Given the description of an element on the screen output the (x, y) to click on. 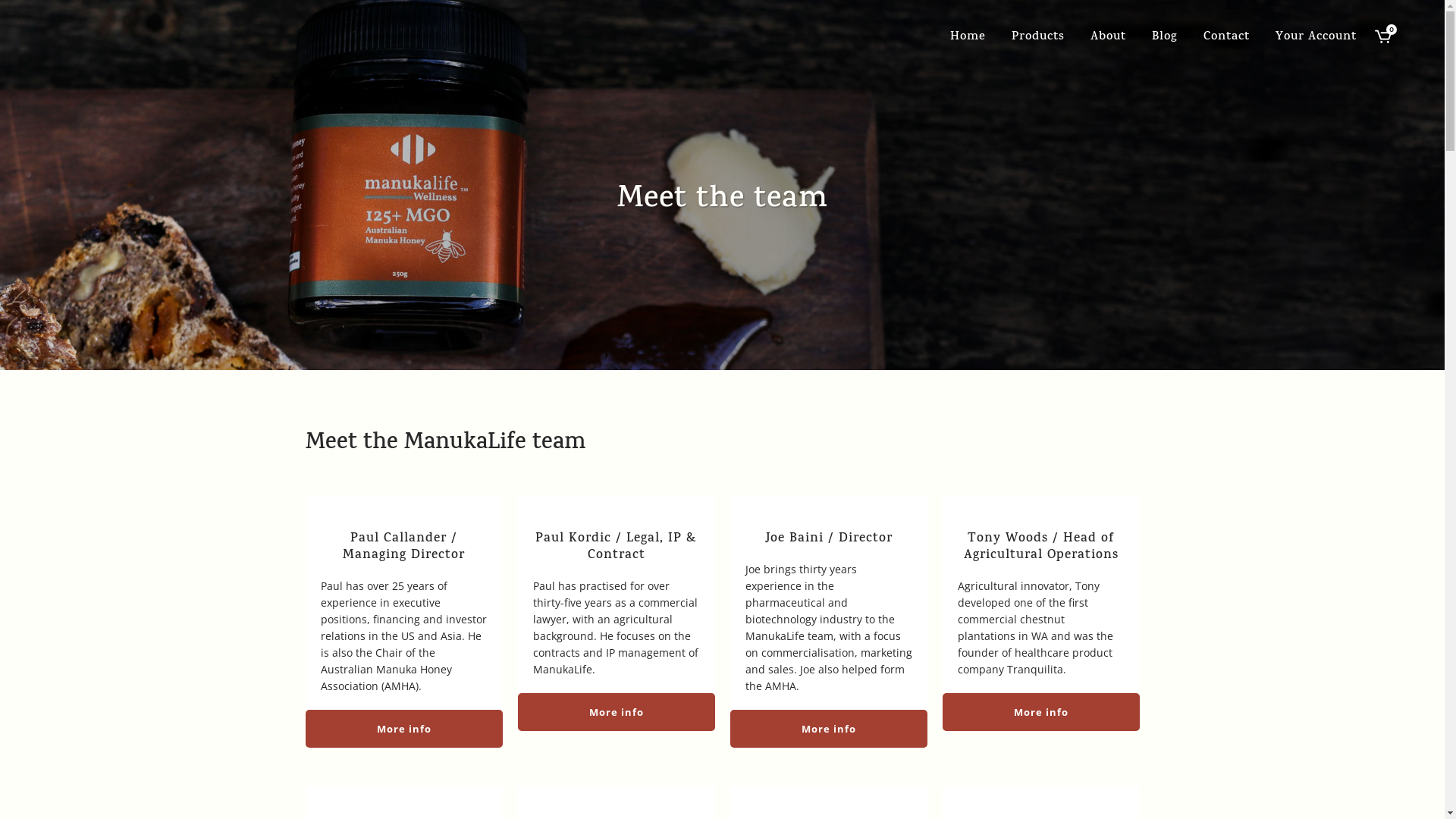
Blog Element type: text (1164, 37)
Products Element type: text (1037, 37)
Contact Element type: text (1226, 37)
More info Element type: text (1040, 712)
0 Element type: text (1382, 38)
More info Element type: text (403, 728)
More info Element type: text (615, 712)
About Element type: text (1108, 37)
More info Element type: text (827, 728)
Your Account Element type: text (1315, 37)
Home Element type: text (967, 37)
